Given the description of an element on the screen output the (x, y) to click on. 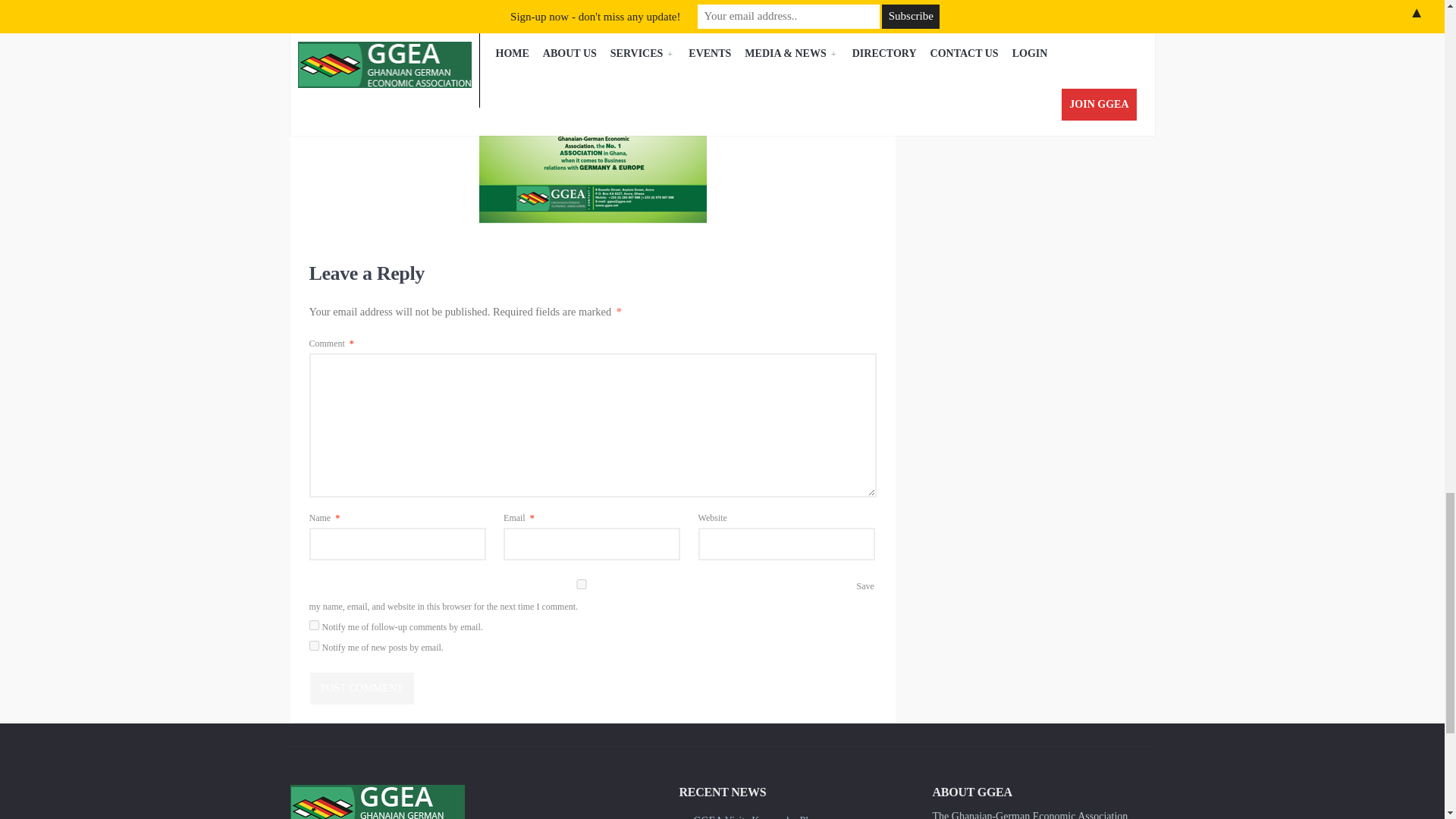
subscribe (313, 624)
Post Comment (360, 688)
yes (580, 583)
subscribe (313, 645)
